Given the description of an element on the screen output the (x, y) to click on. 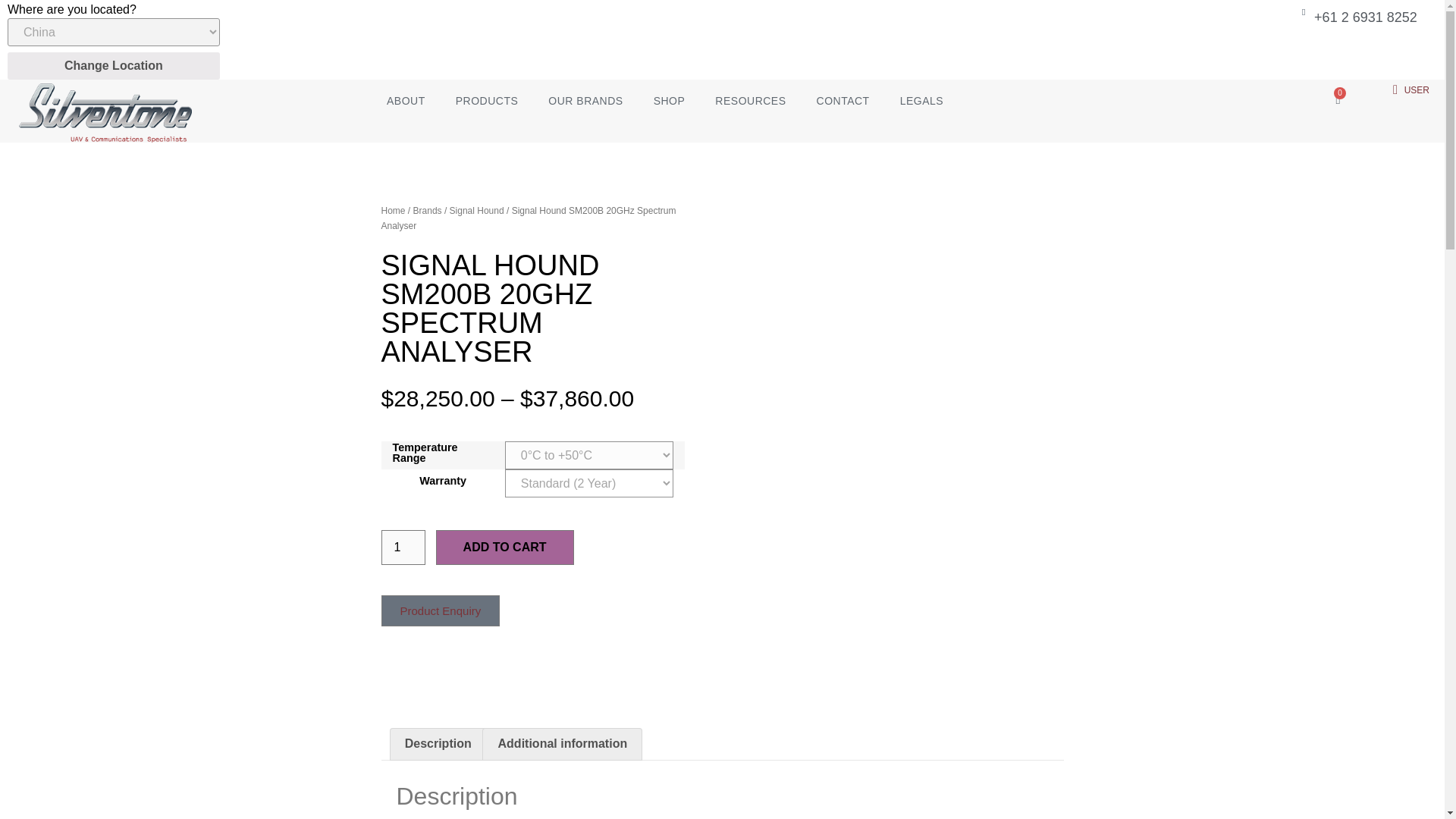
Change Location (113, 65)
OUR BRANDS (584, 100)
ABOUT (406, 100)
PRODUCTS (487, 100)
1 (402, 547)
Visit silvertone.com.au (1368, 49)
